Given the description of an element on the screen output the (x, y) to click on. 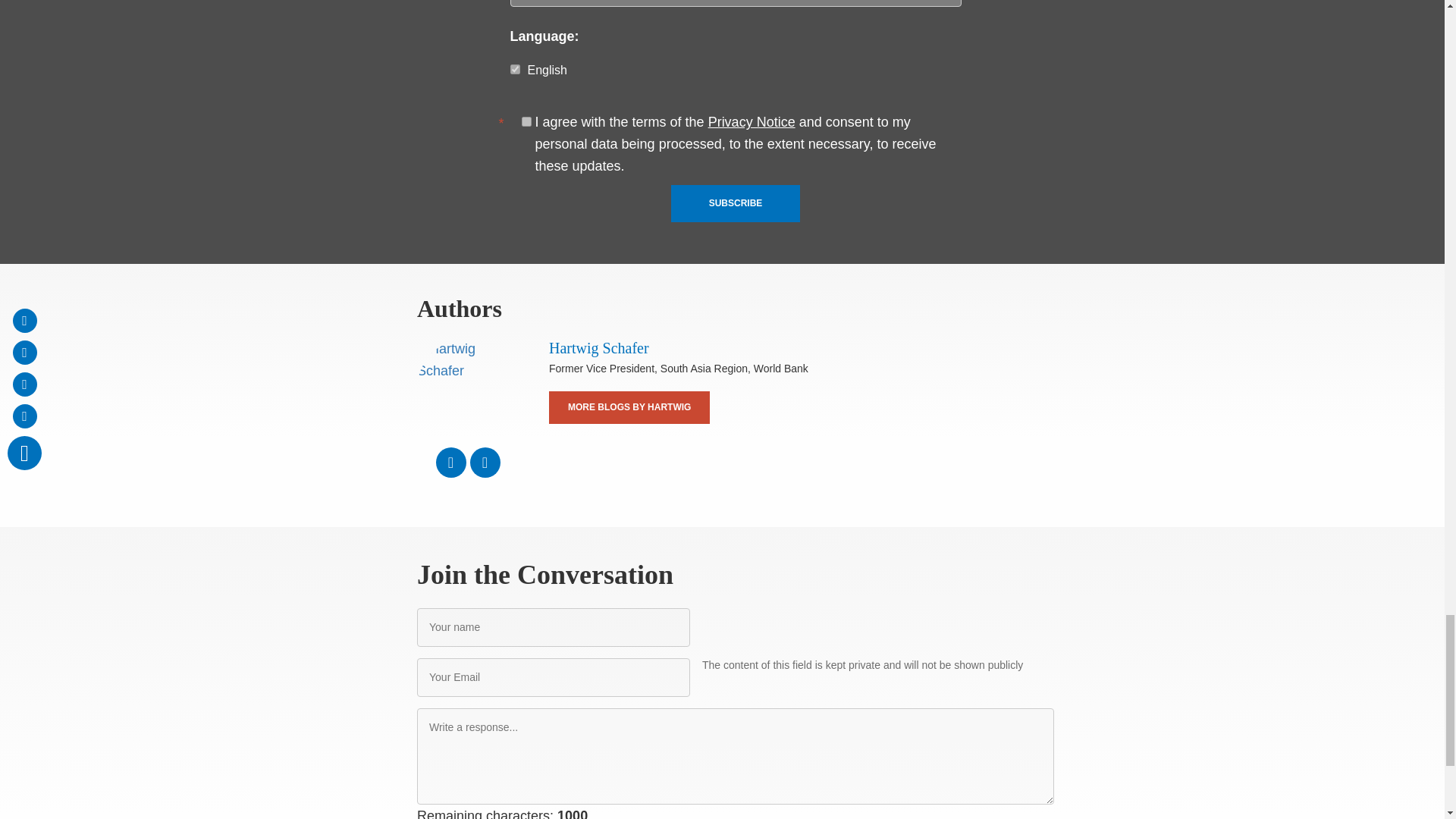
Hartwig Schafer (467, 388)
1 (526, 121)
Your name (553, 627)
en (514, 69)
